Given the description of an element on the screen output the (x, y) to click on. 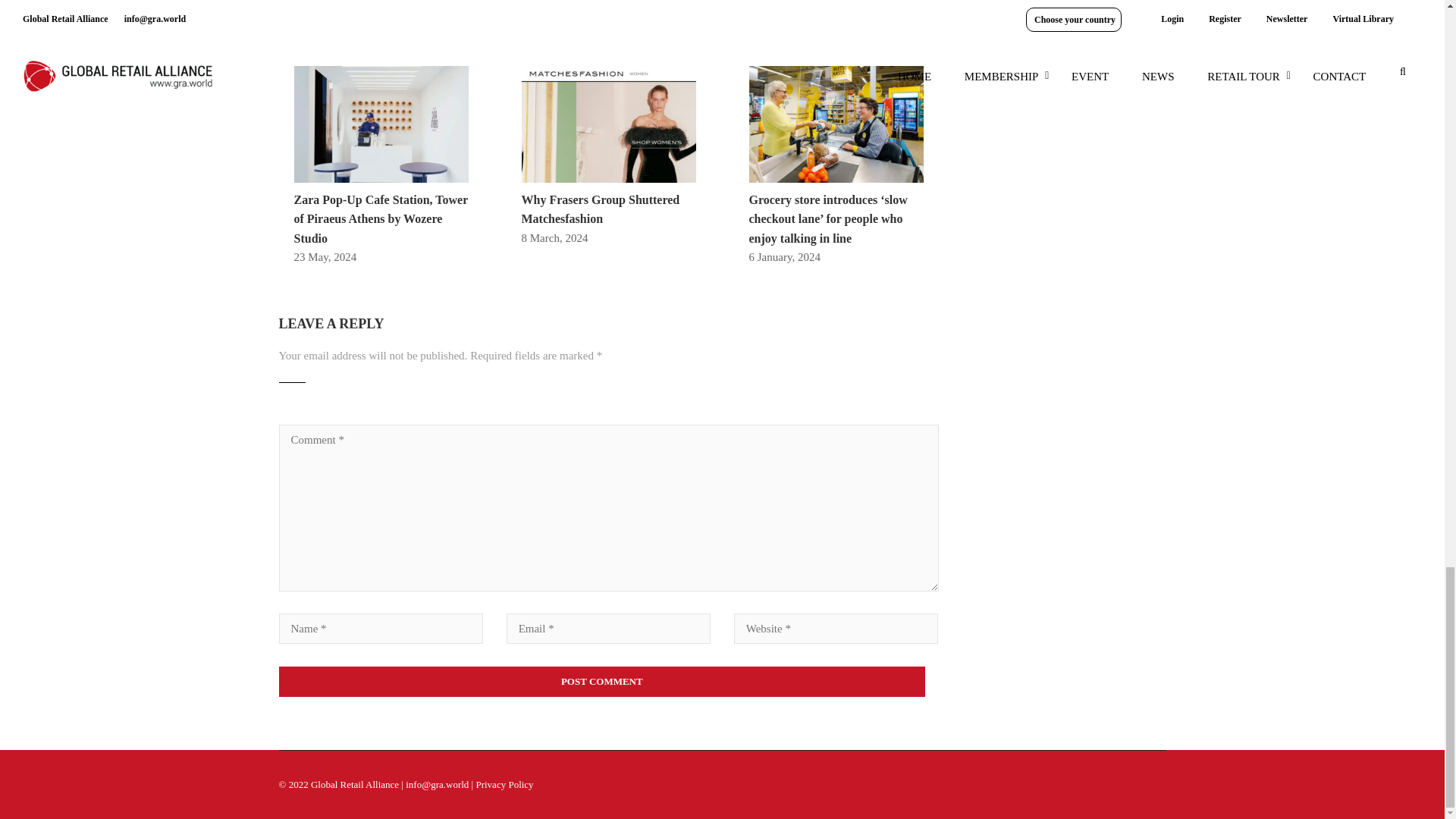
Post Comment (602, 681)
Why Frasers Group Shuttered Matchesfashion (600, 209)
matchesfashion (608, 123)
zara-popup-cafe-athens (381, 123)
Senza-titolo-1 (836, 123)
